Given the description of an element on the screen output the (x, y) to click on. 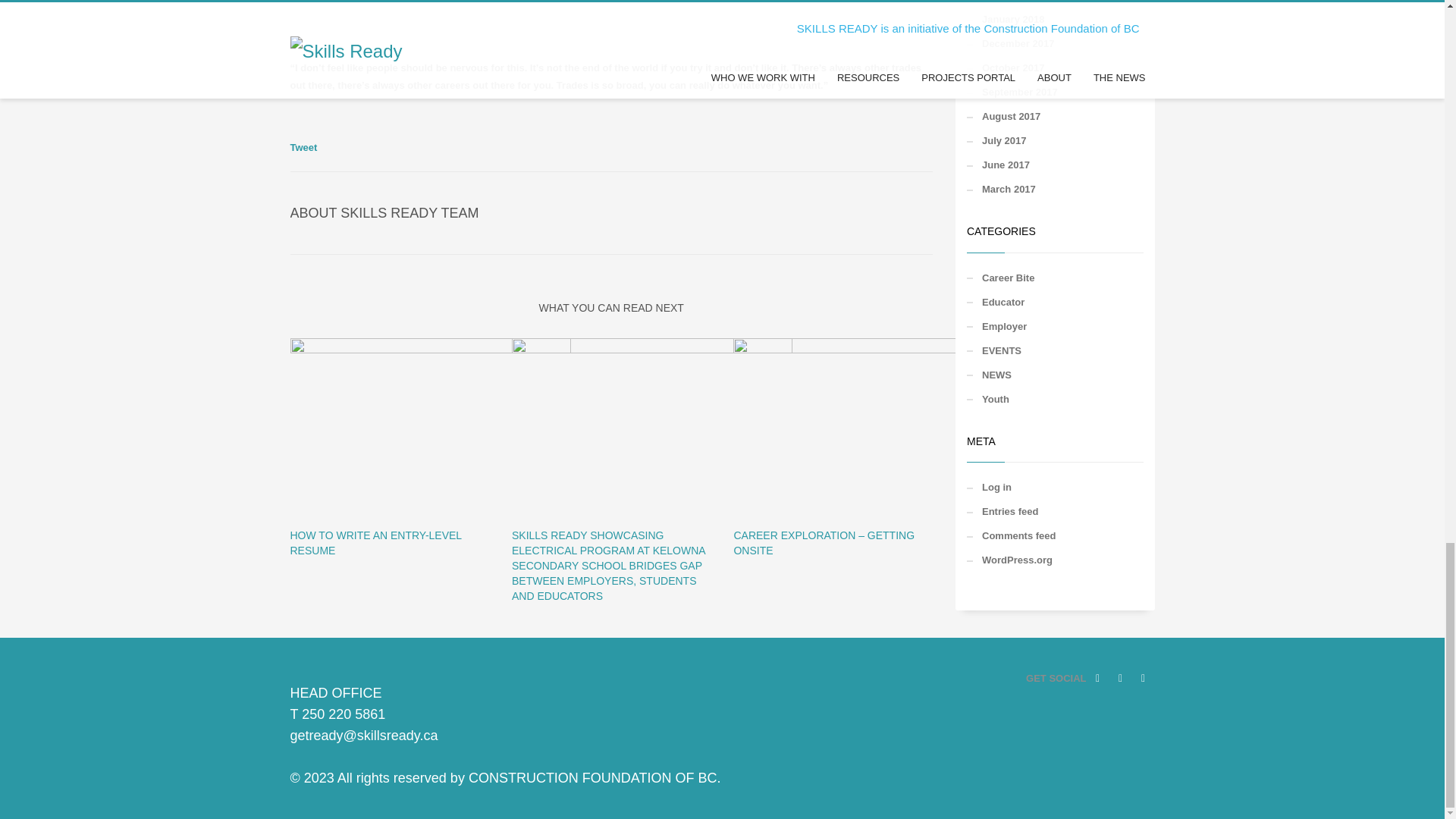
Find us on Instagram! (1119, 678)
kelownashowcaseevent (652, 429)
Follow us on Twitter (1142, 678)
HOW TO WRITE AN ENTRY-LEVEL RESUME (375, 542)
Tweet (303, 147)
Like us on Facebook! (1097, 678)
